Given the description of an element on the screen output the (x, y) to click on. 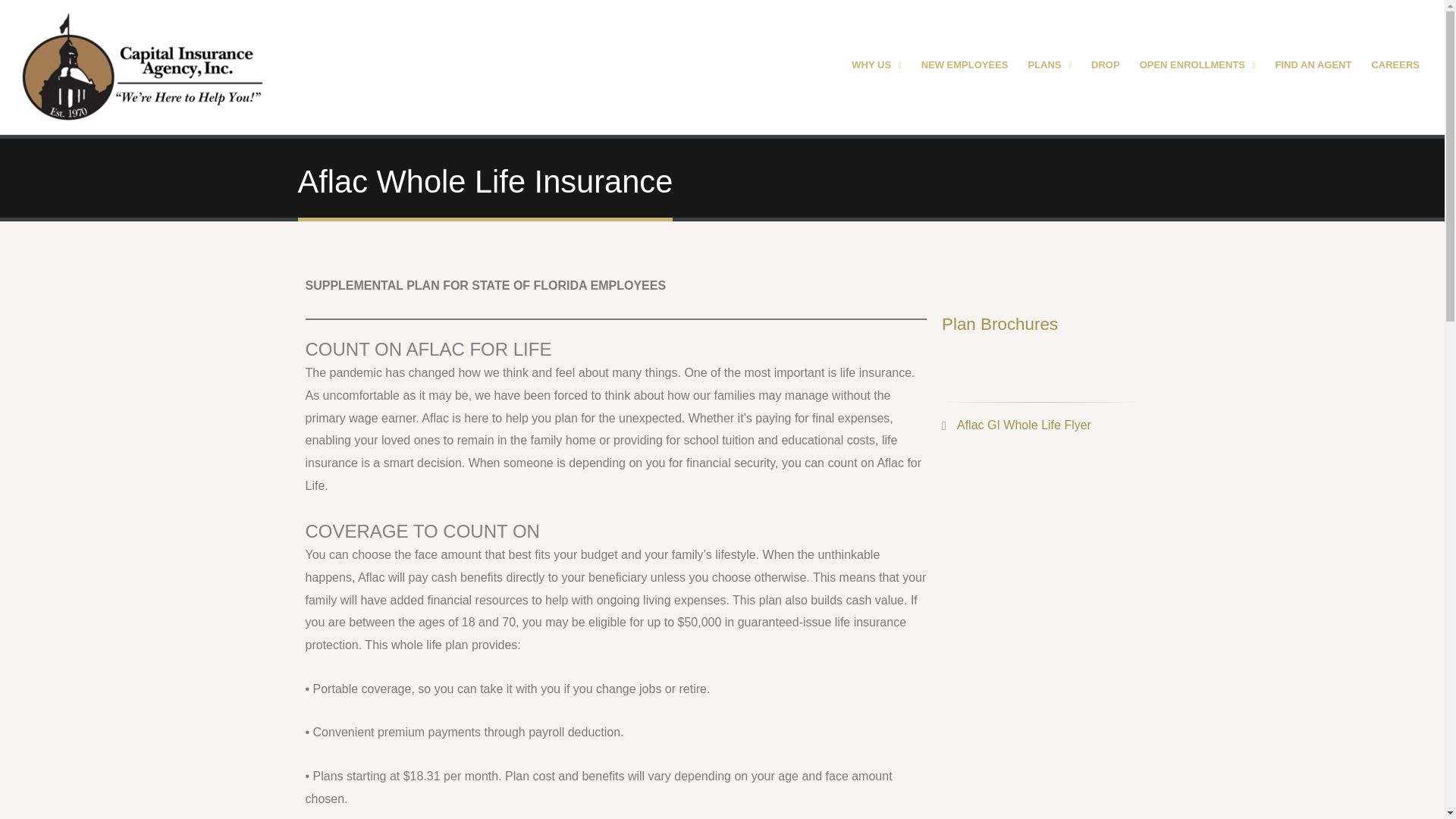
WHY US (876, 66)
NEW EMPLOYEES (964, 66)
PLANS (1049, 66)
OPEN ENROLLMENTS (1197, 66)
DROP (1105, 66)
FIND AN AGENT (1313, 66)
CAREERS (1395, 66)
